Given the description of an element on the screen output the (x, y) to click on. 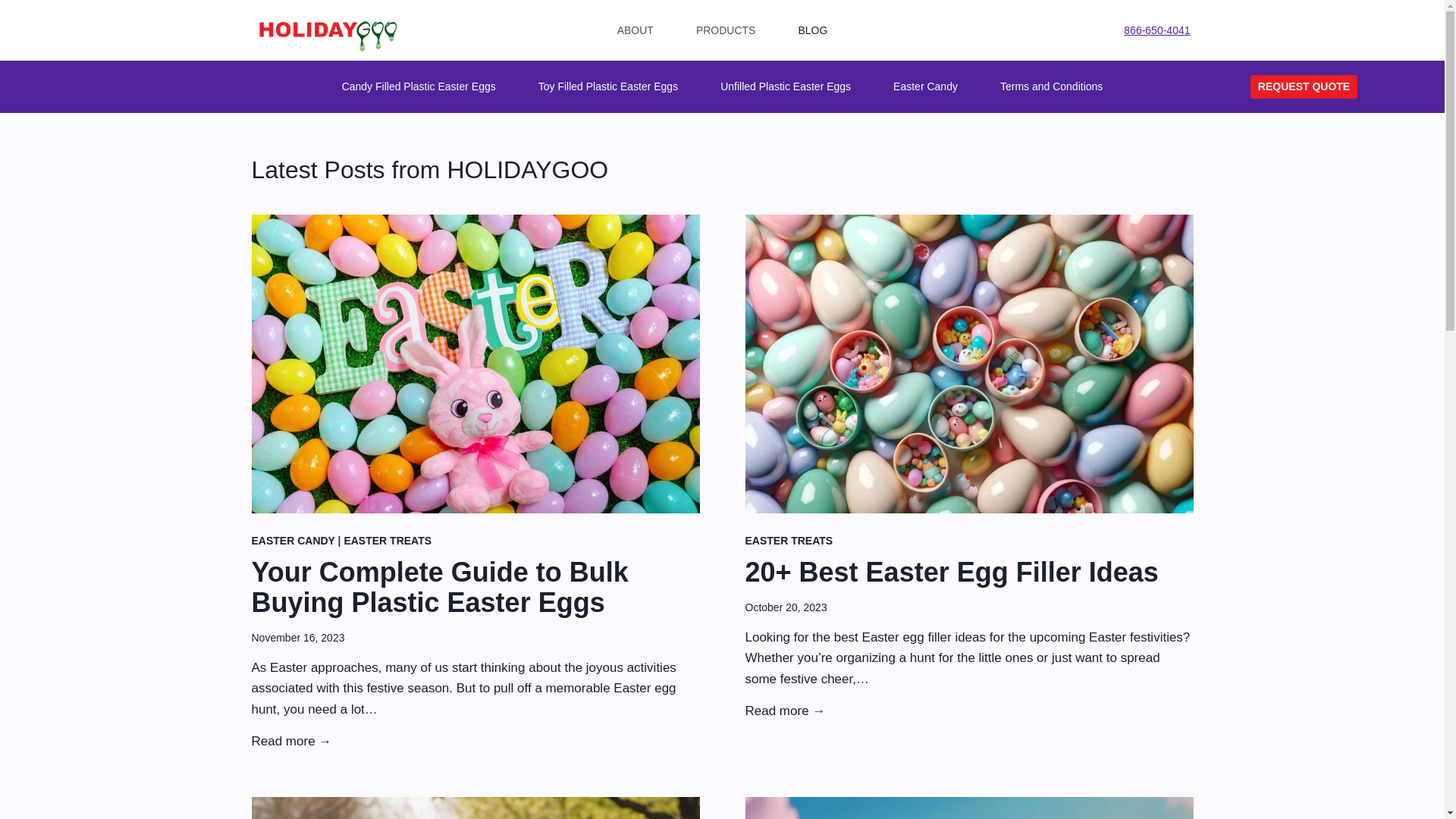
866-650-4041 (1156, 30)
PRODUCTS (726, 30)
Terms and Conditions (1051, 86)
EASTER TREATS (788, 540)
Your Complete Guide to Bulk Buying Plastic Easter Eggs (475, 587)
REQUEST QUOTE (1303, 86)
EASTER CANDY (292, 540)
ABOUT (635, 30)
Easter Candy (925, 86)
Candy Filled Plastic Easter Eggs (418, 86)
Toy Filled Plastic Easter Eggs (607, 86)
Unfilled Plastic Easter Eggs (785, 86)
EASTER TREATS (386, 540)
BLOG (812, 30)
